Given the description of an element on the screen output the (x, y) to click on. 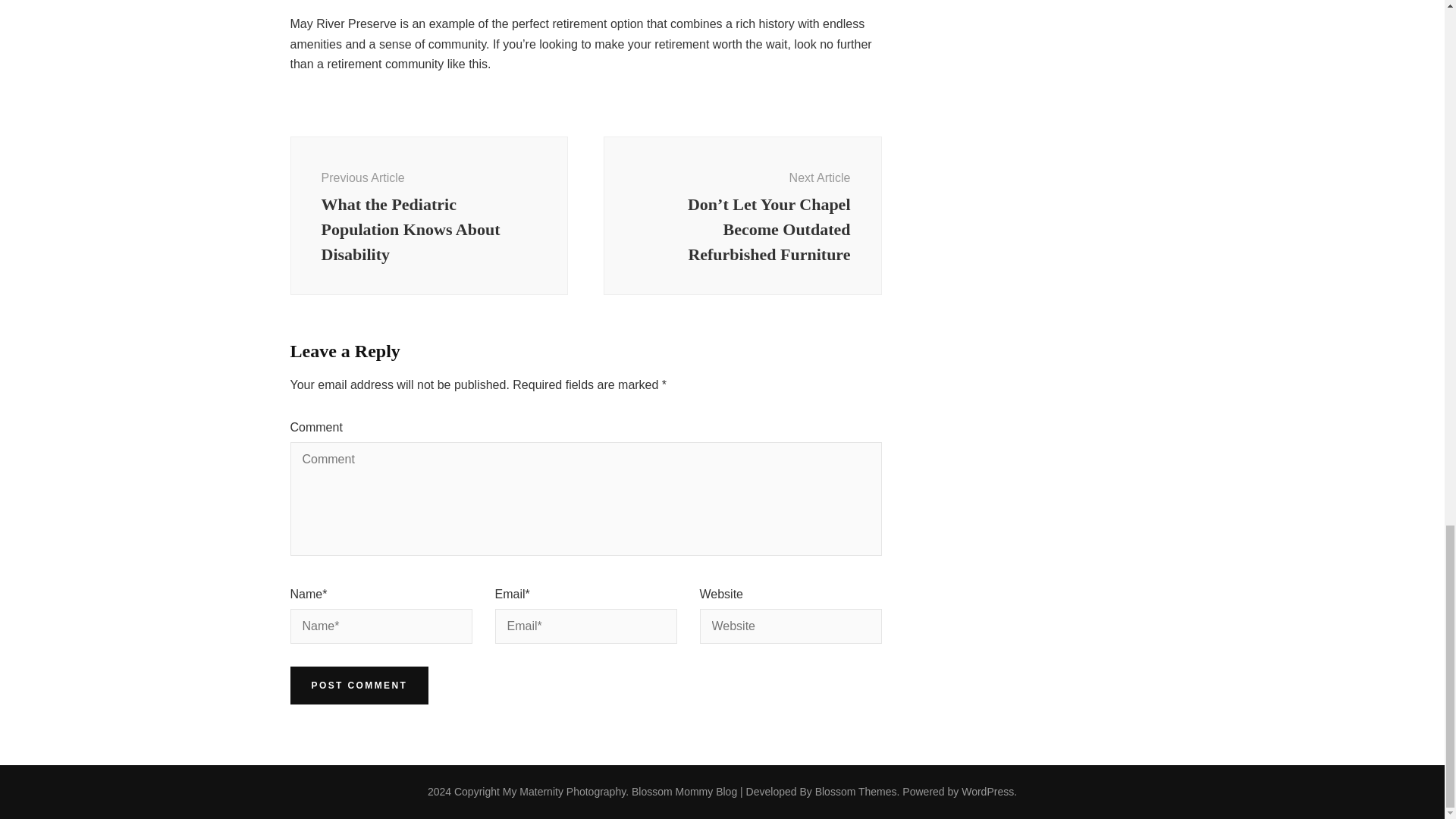
Post Comment (358, 685)
WordPress (986, 791)
Post Comment (358, 685)
Blossom Themes (855, 791)
My Maternity Photography (564, 791)
